Given the description of an element on the screen output the (x, y) to click on. 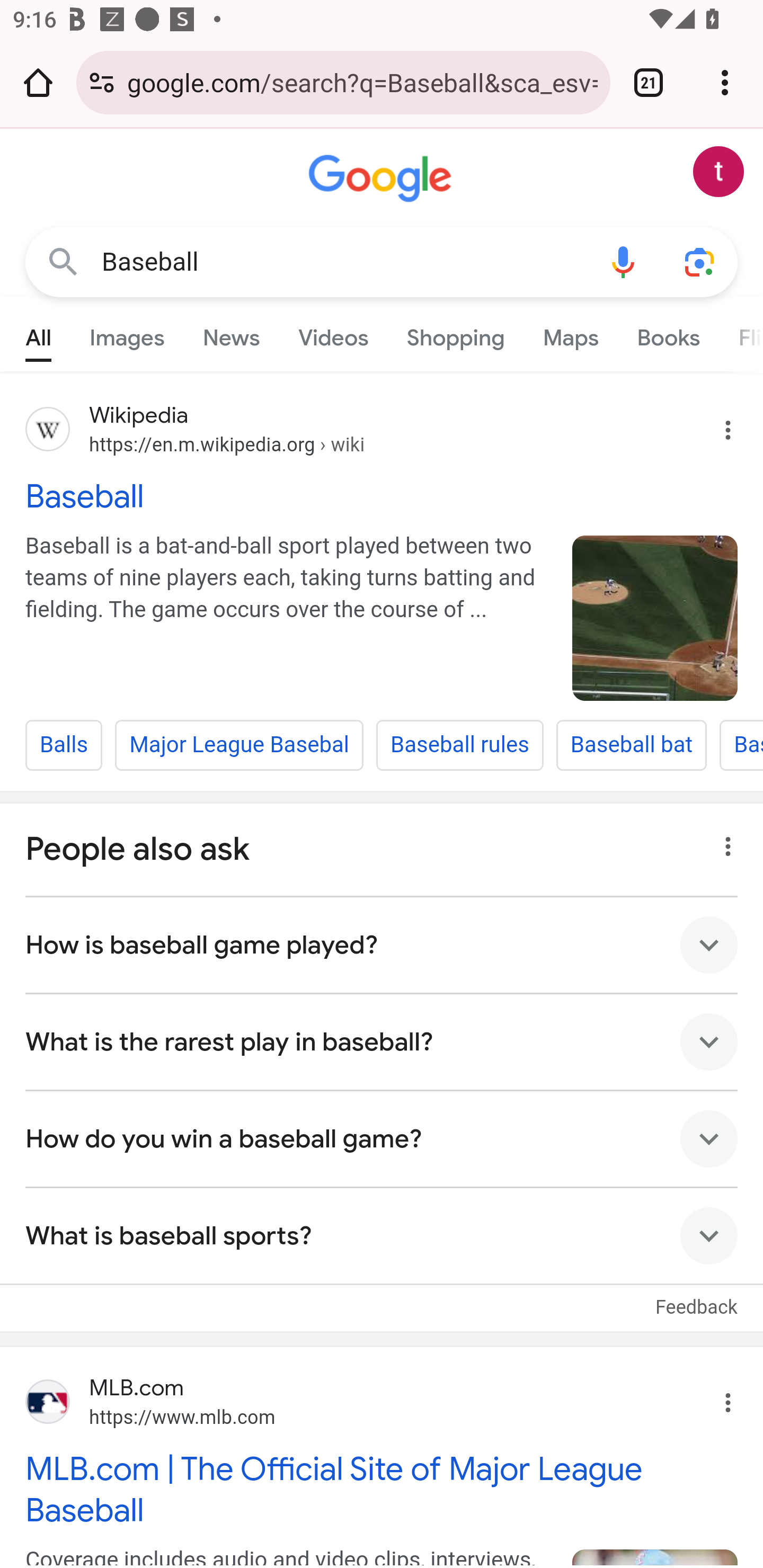
Open the home page (38, 82)
Connection is secure (101, 82)
Switch or close tabs (648, 82)
Customize and control Google Chrome (724, 82)
Google (381, 179)
Google Search (63, 262)
Search using your camera or photos (699, 262)
Baseball (343, 261)
Images (127, 333)
News (231, 333)
Videos (332, 333)
Shopping (455, 333)
Maps (570, 333)
Books (668, 333)
Baseball (381, 495)
Baseball (654, 617)
Balls (64, 744)
Major League Basebal (238, 744)
Baseball rules (459, 744)
Baseball bat (630, 744)
About this result (723, 840)
How is baseball game played? (381, 944)
What is the rarest play in baseball? (381, 1040)
How do you win a baseball game? (381, 1137)
What is baseball sports? (381, 1235)
Feedback (696, 1297)
